Given the description of an element on the screen output the (x, y) to click on. 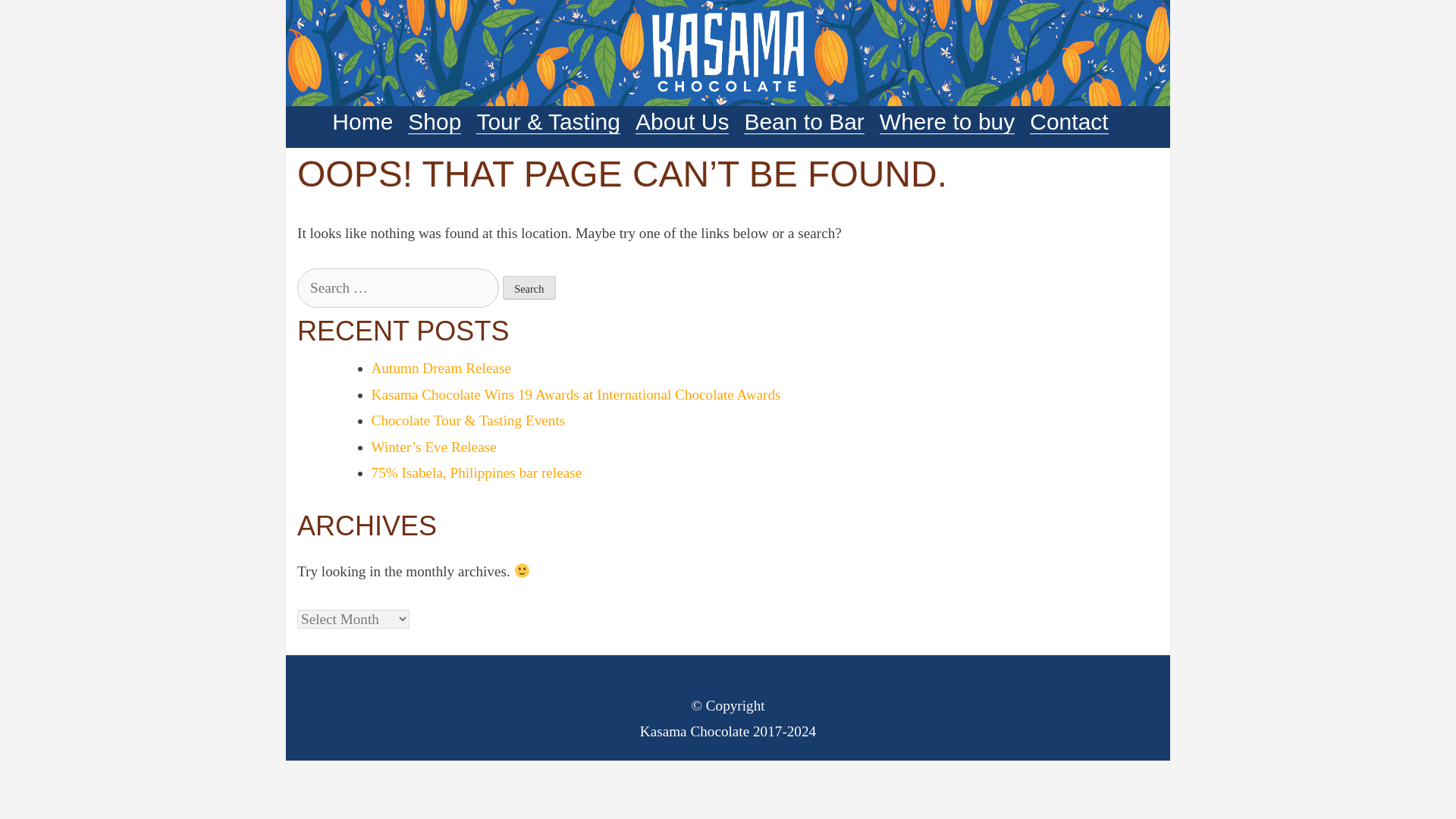
Bean to Bar (803, 121)
Search (529, 287)
Where to buy (946, 121)
About Us (681, 121)
Contact (1068, 121)
Autumn Dream Release (441, 367)
Shop (434, 121)
Search (529, 287)
Home (362, 121)
Search (529, 287)
